Given the description of an element on the screen output the (x, y) to click on. 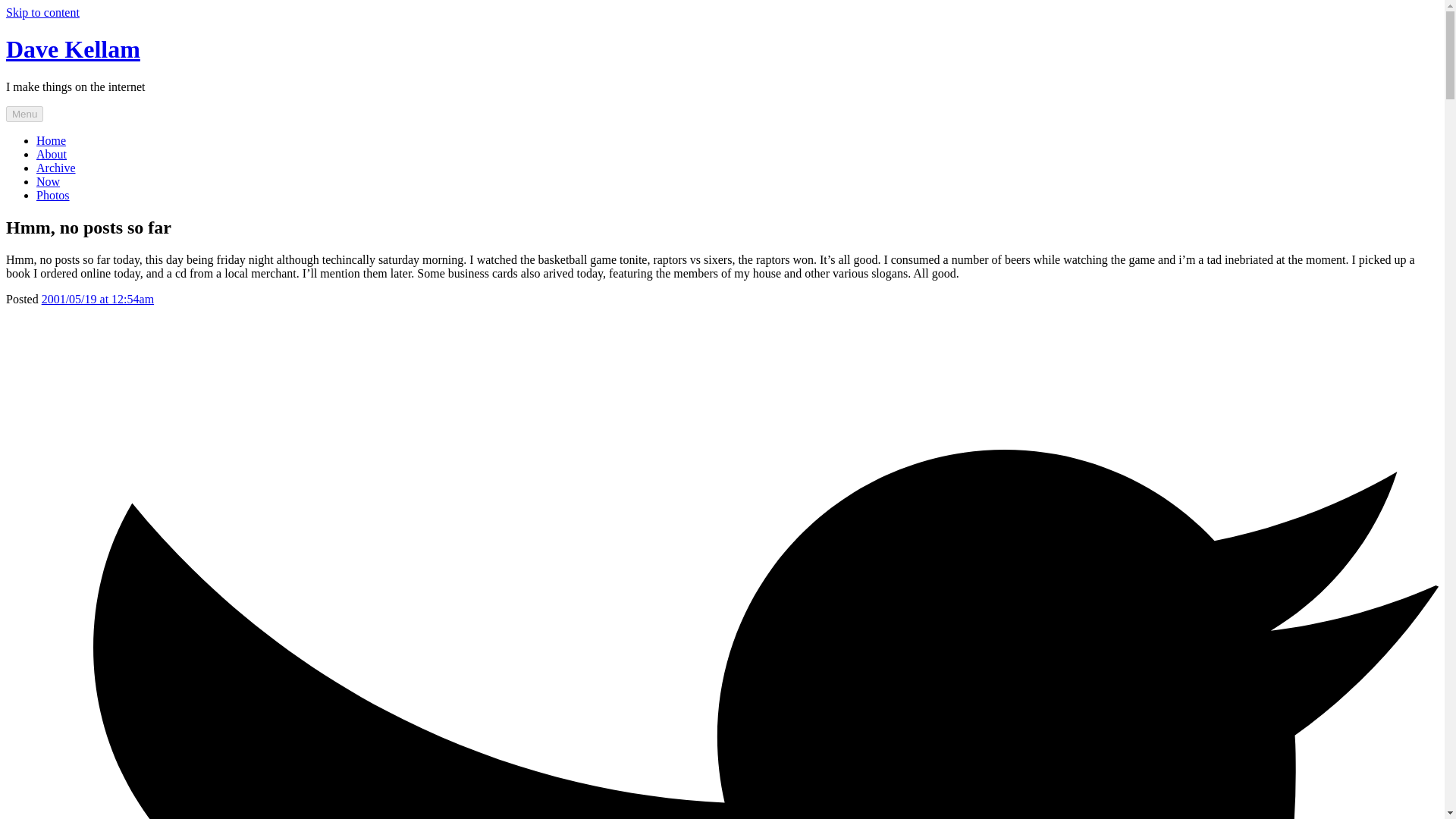
Archive (55, 167)
Photos (52, 195)
Dave Kellam (72, 49)
Now (47, 181)
Home (50, 140)
Menu (24, 114)
About (51, 154)
Skip to content (42, 11)
